Given the description of an element on the screen output the (x, y) to click on. 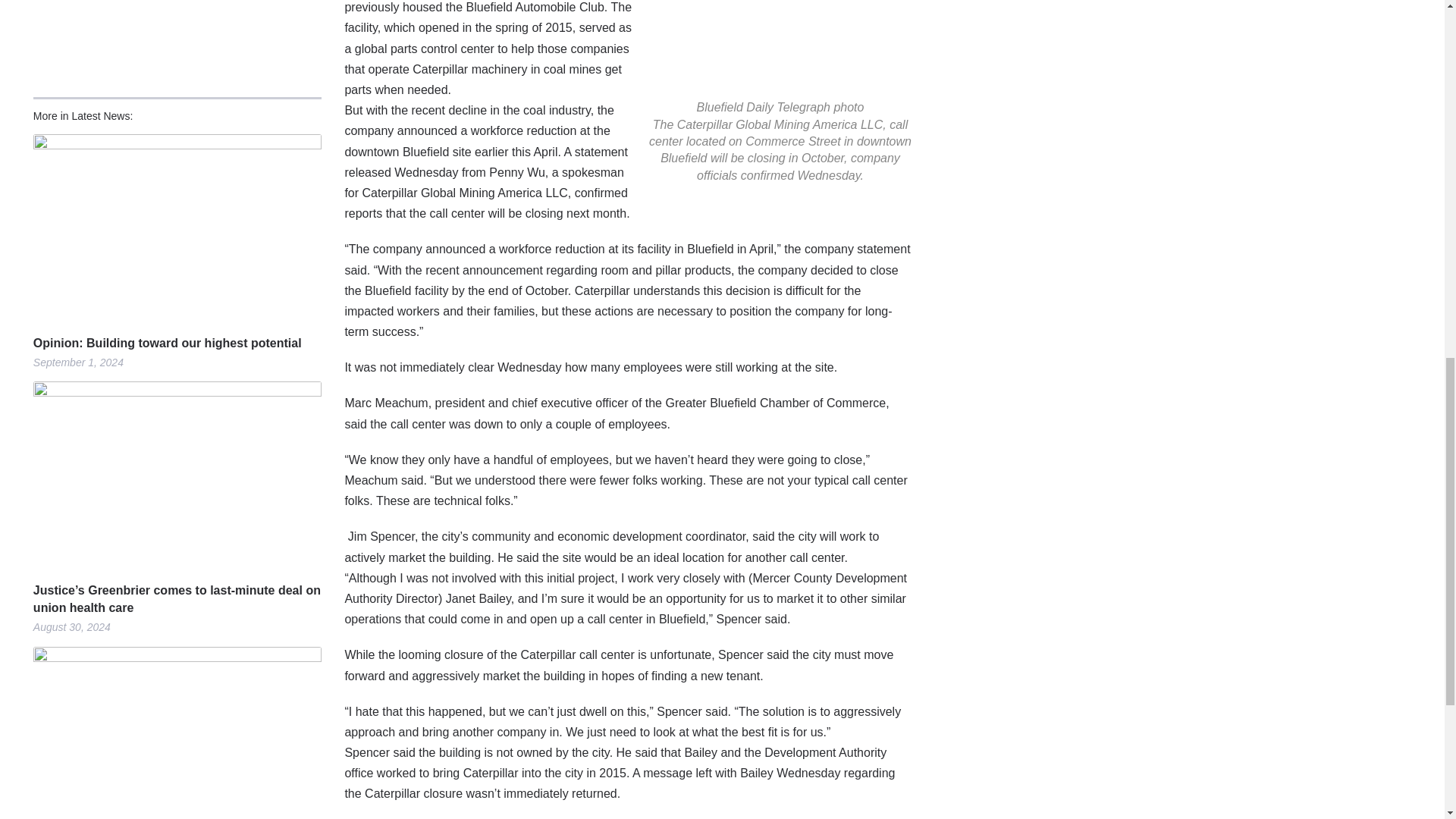
Permalink to Opinion: Building toward our highest potential (177, 343)
Permalink to Opinion: Building toward our highest potential (177, 227)
